Given the description of an element on the screen output the (x, y) to click on. 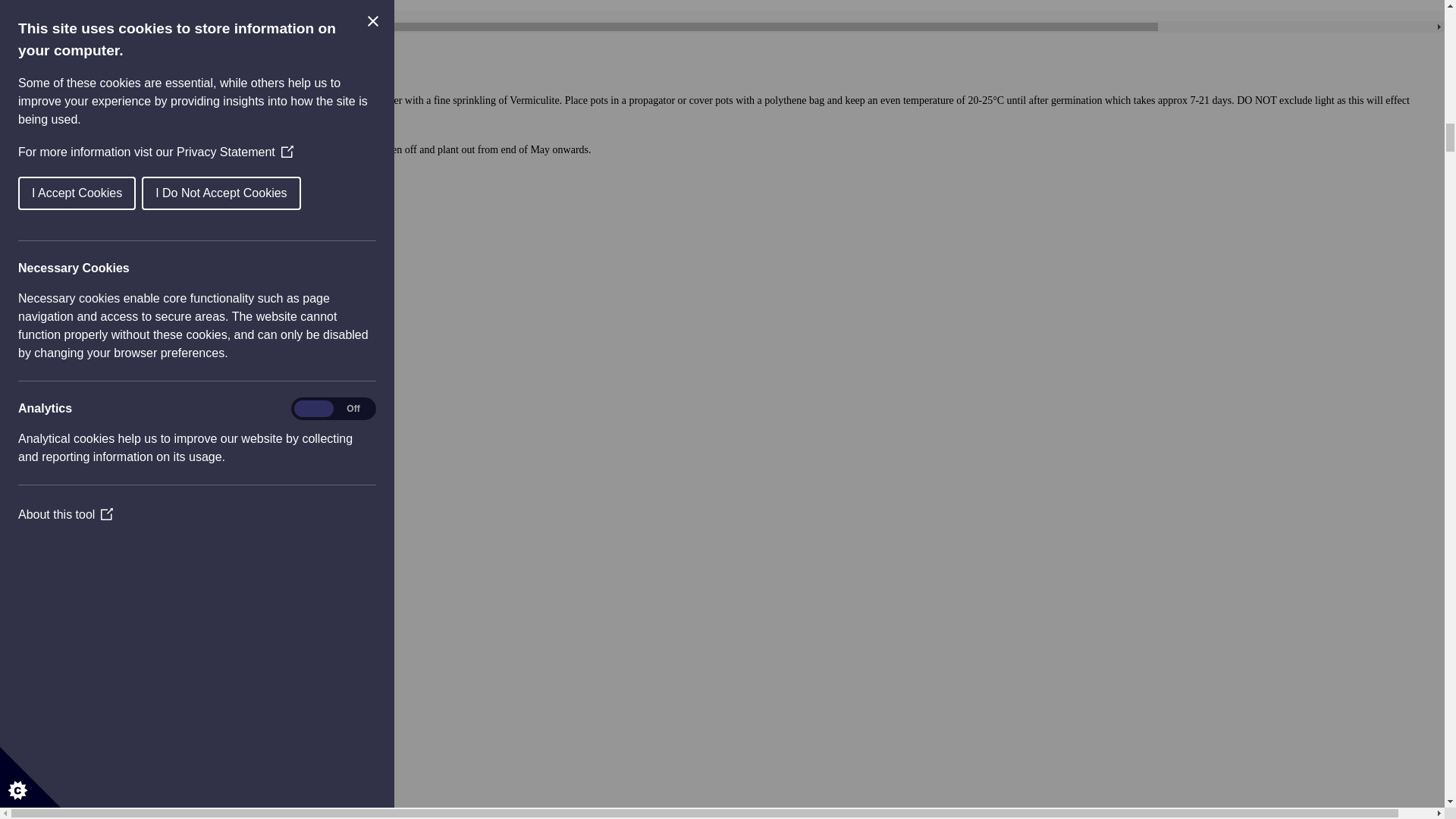
01 (92, 738)
